Given the description of an element on the screen output the (x, y) to click on. 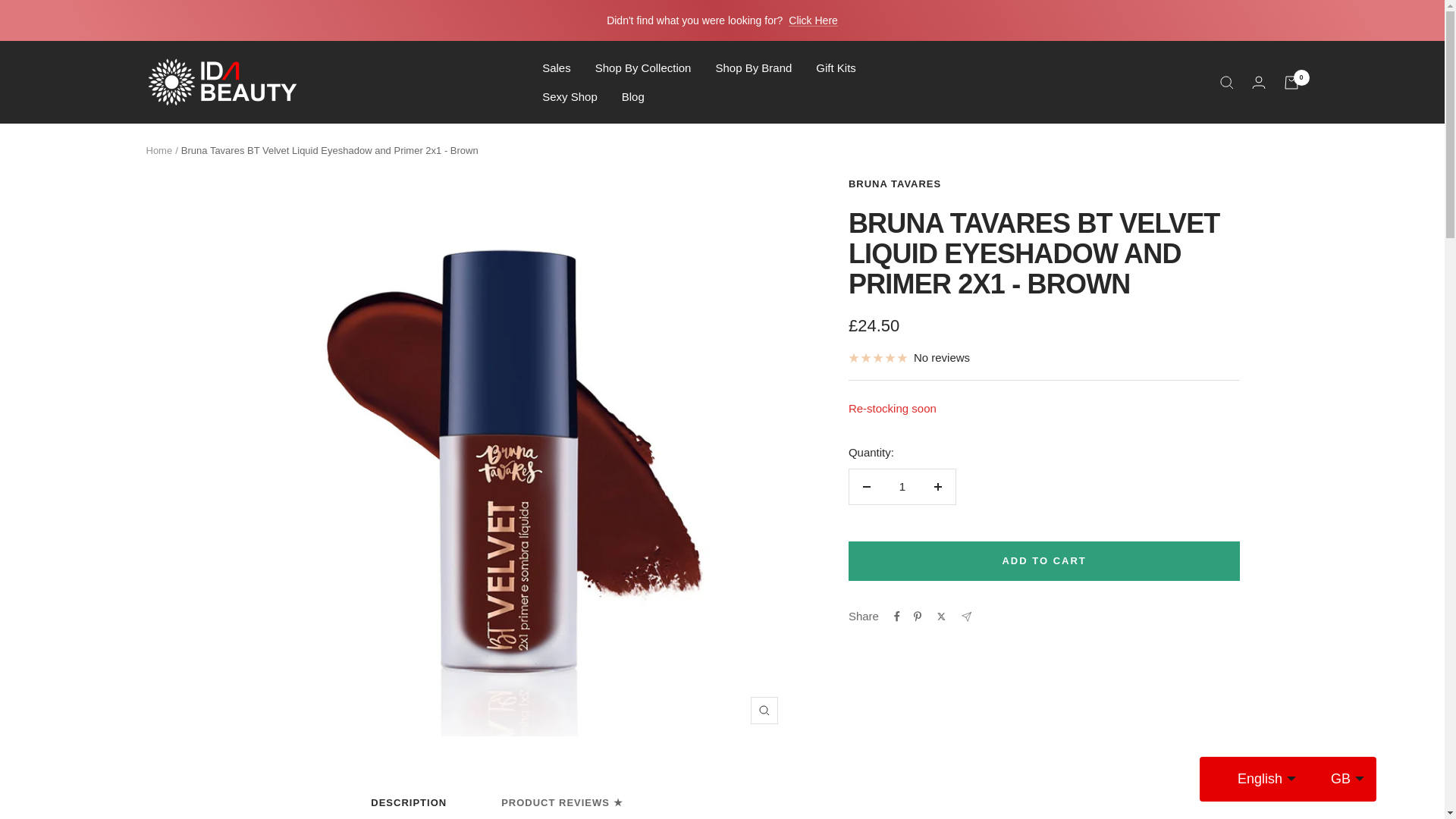
0 (1291, 82)
Shop By Brand (753, 67)
ADD TO CART (1044, 560)
Increase quantity (937, 486)
BRUNA TAVARES (894, 183)
IDA Beauty UK (221, 81)
Zoom (764, 709)
1 (901, 486)
Gift Kits (835, 67)
Sales (555, 67)
Click Here (813, 20)
Home (158, 150)
Sexy Shop (568, 96)
No reviews (908, 357)
Shop By Collection (643, 67)
